Given the description of an element on the screen output the (x, y) to click on. 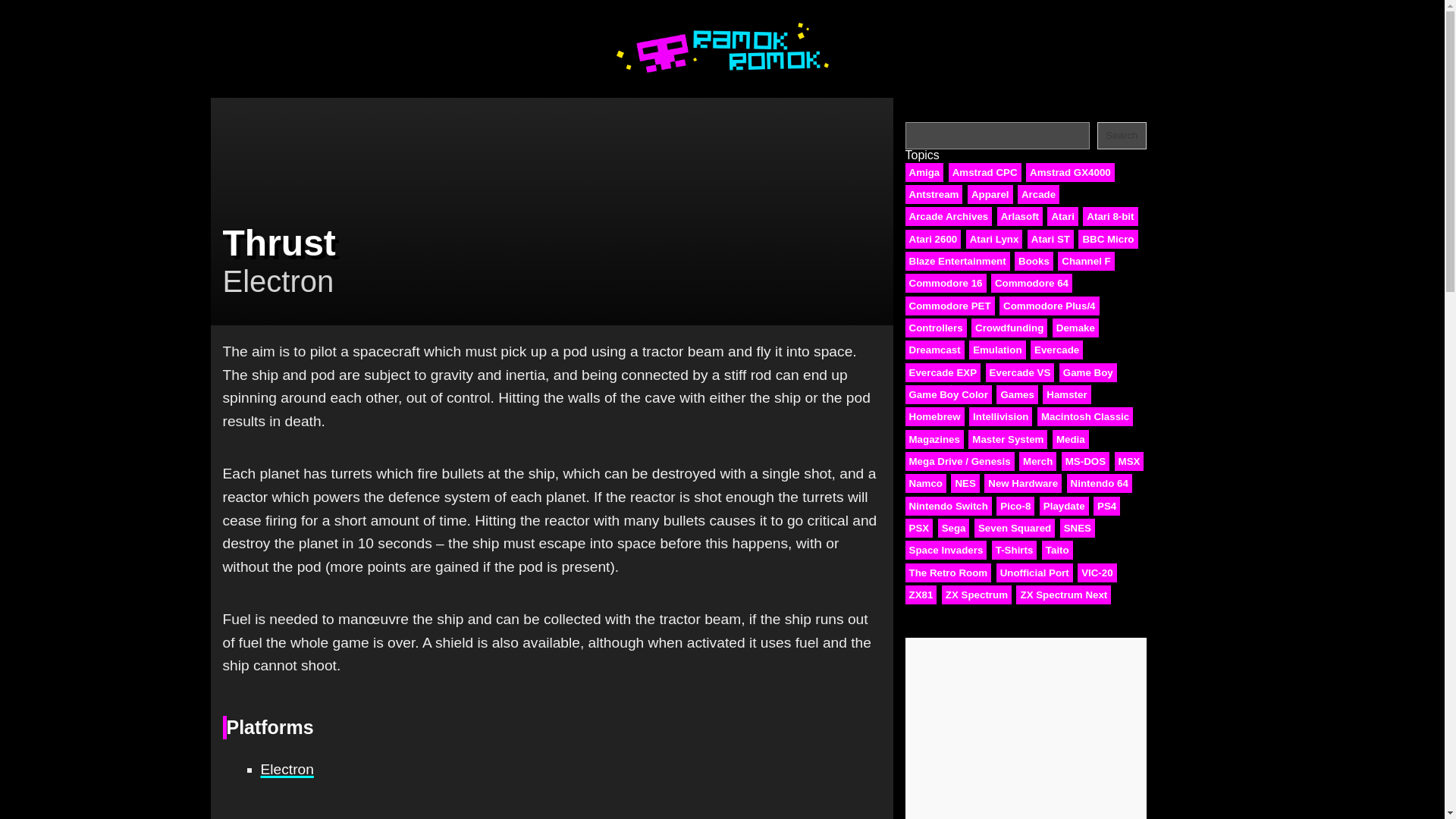
BBC Micro (1107, 239)
Amstrad GX4000 (1070, 171)
Apparel (990, 194)
Commodore PET (949, 305)
Commodore 16 (946, 282)
Evercade EXP (943, 372)
Demake (1075, 327)
Crowdfunding (1008, 327)
Atari (1061, 216)
Atari 8-bit (1110, 216)
Amstrad CPC (985, 171)
Channel F (1085, 261)
Books (1033, 261)
Controllers (935, 327)
Arlasoft (1019, 216)
